Given the description of an element on the screen output the (x, y) to click on. 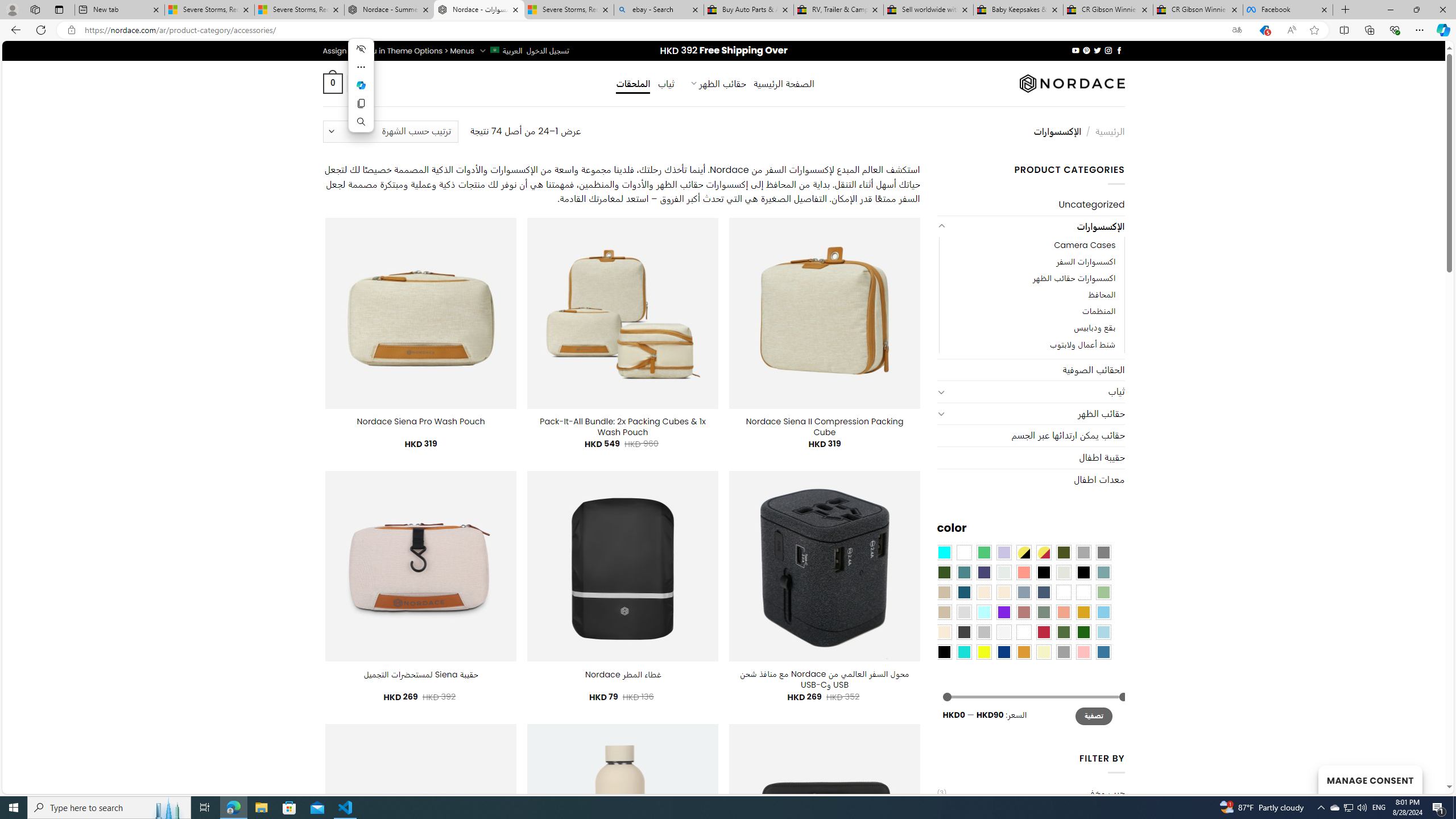
Light-Gray (963, 611)
Minimize (1390, 9)
Khaki (1082, 591)
Emerald Green (983, 551)
